Given the description of an element on the screen output the (x, y) to click on. 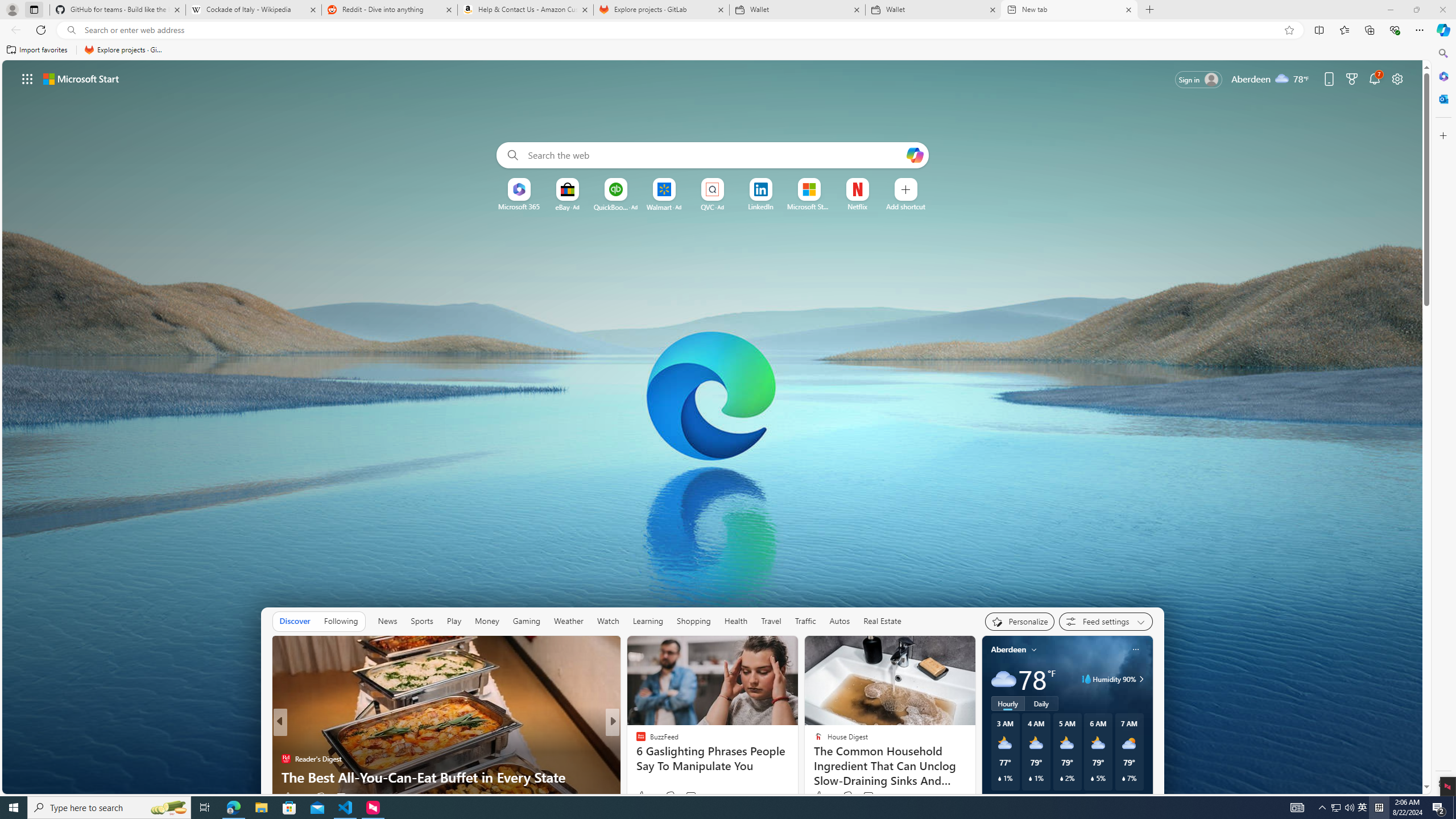
Customize (1442, 135)
Search highlights icon opens search home window (167, 807)
USA TODAY (635, 740)
Best Avengers To Never Appear In A Movie (796, 777)
Health (735, 621)
Fox Business (635, 740)
FOX News (635, 740)
Address and search bar (681, 29)
Watch (607, 621)
Class: weather-arrow-glyph (1141, 678)
